Given the description of an element on the screen output the (x, y) to click on. 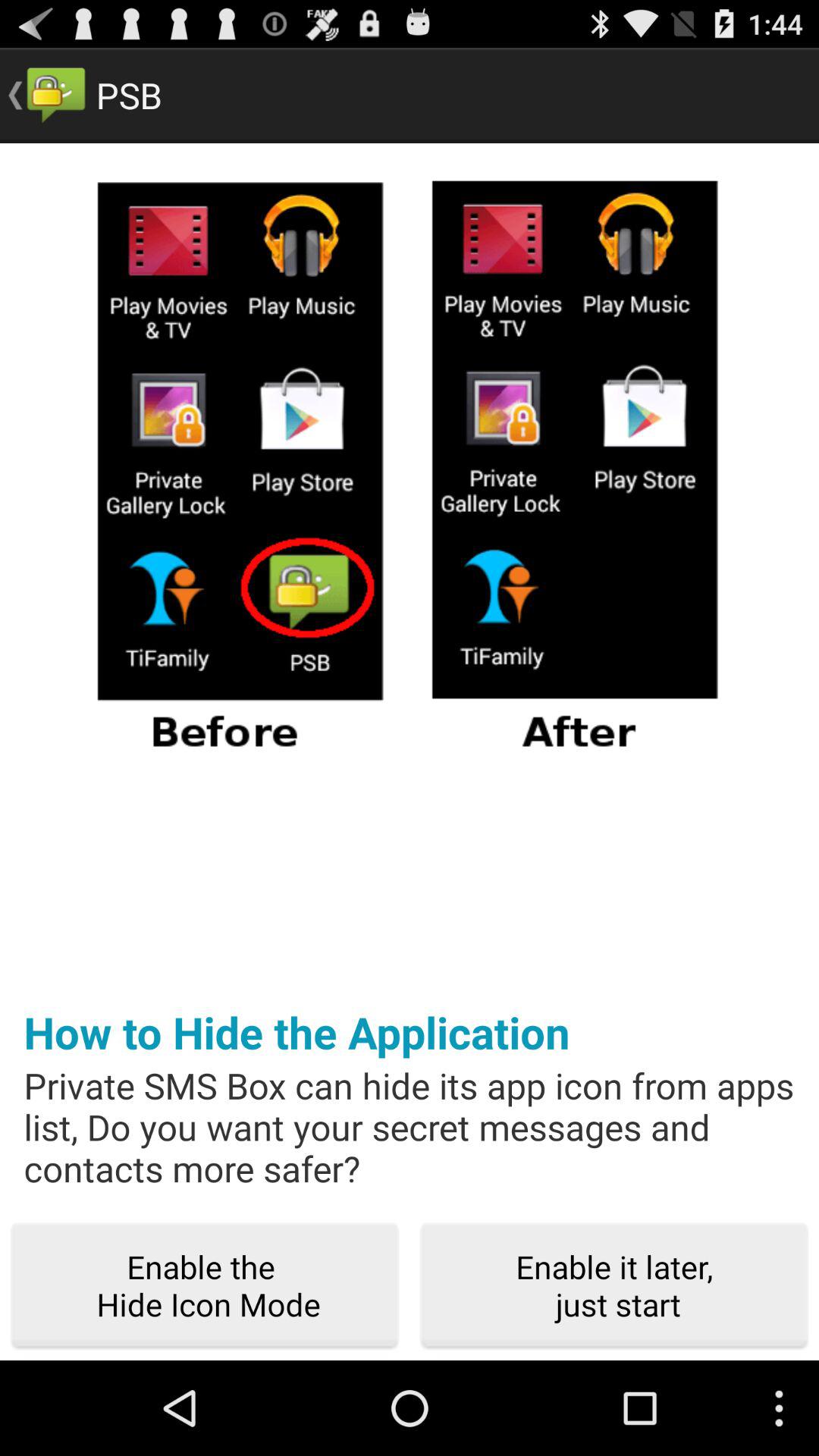
turn off the icon to the right of enable the hide icon (613, 1286)
